Given the description of an element on the screen output the (x, y) to click on. 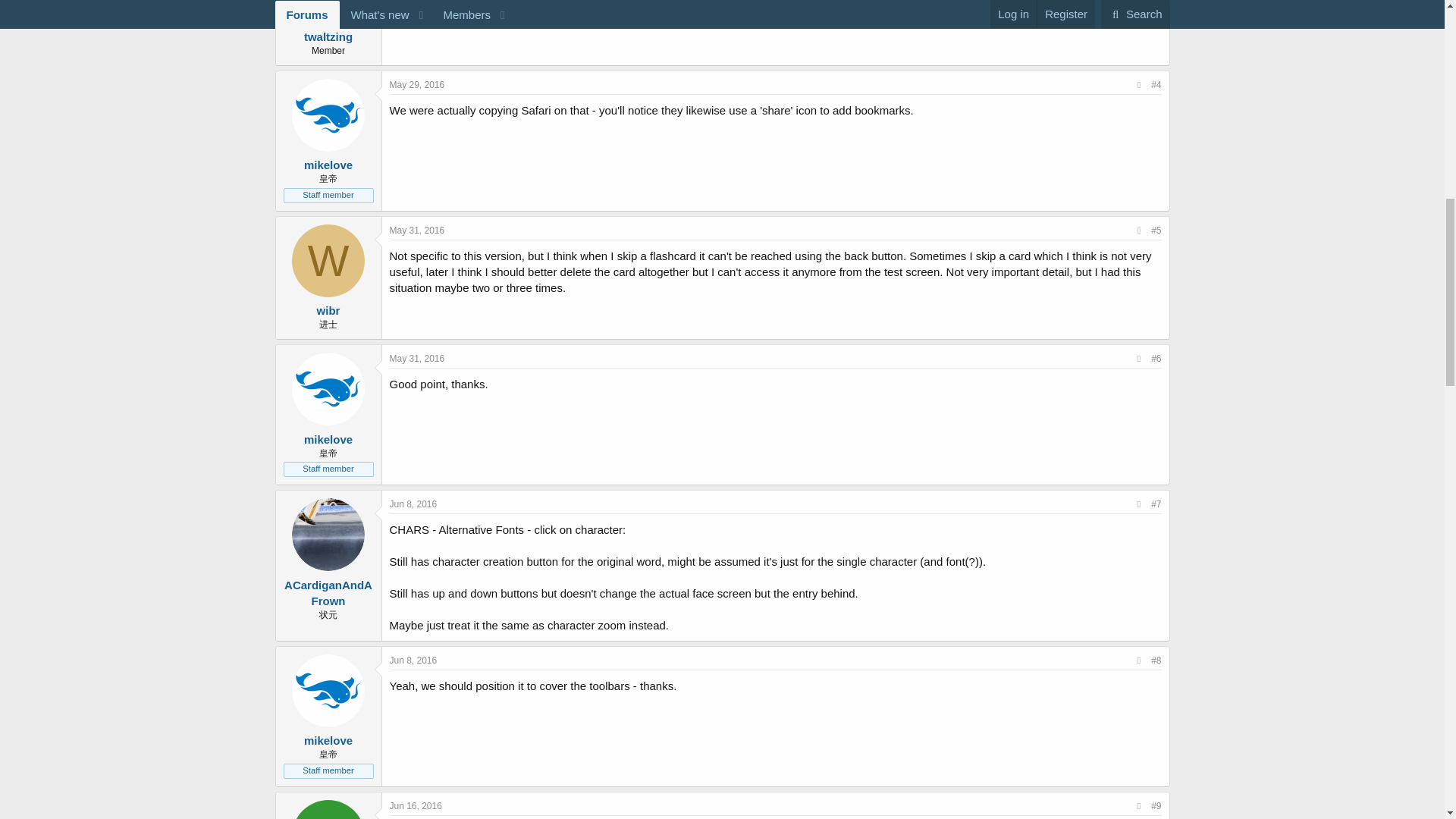
Jun 8, 2016 at 12:27 AM (414, 503)
May 31, 2016 at 4:08 PM (417, 357)
May 29, 2016 at 10:52 AM (417, 84)
May 31, 2016 at 3:21 PM (417, 230)
